Given the description of an element on the screen output the (x, y) to click on. 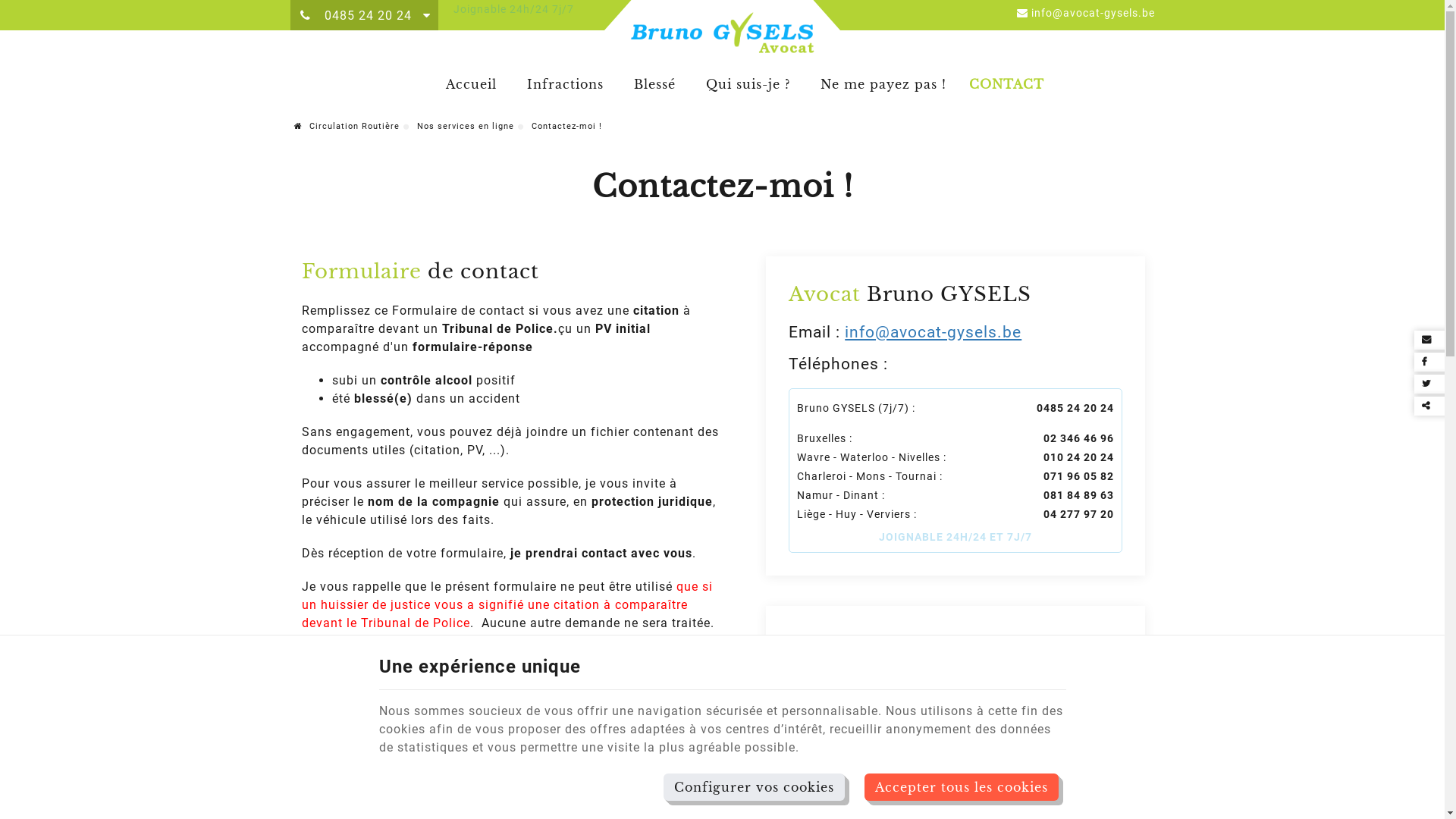
Configurer vos cookies Element type: text (753, 786)
Infractions Element type: text (564, 84)
Accueil Element type: text (470, 84)
Ne me payez pas ! Element type: text (883, 84)
Nos services en ligne Element type: text (465, 126)
Qui suis-je ? Element type: text (747, 84)
Accepter tous les cookies Element type: text (961, 786)
info@avocat-gysels.be Element type: text (1085, 12)
CONTACT Element type: text (1002, 84)
Partager ce contenu Element type: text (1433, 405)
info@avocat-gysels.be Element type: text (932, 331)
